Given the description of an element on the screen output the (x, y) to click on. 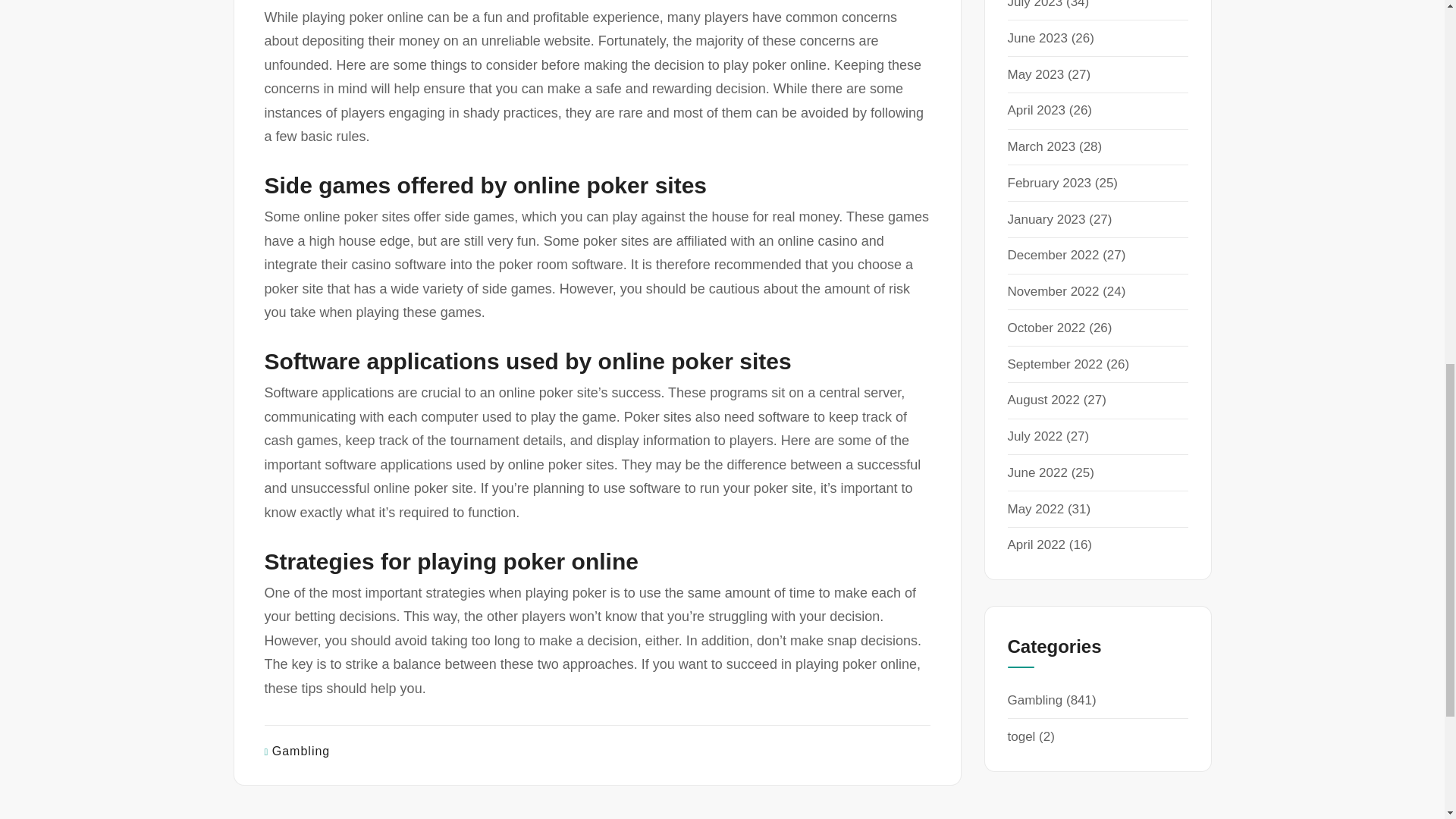
May 2023 (1035, 74)
July 2023 (1034, 4)
November 2022 (1053, 291)
September 2022 (1054, 364)
January 2023 (1045, 219)
October 2022 (1045, 327)
March 2023 (1041, 146)
June 2023 (1037, 38)
Gambling (301, 750)
April 2023 (1036, 110)
February 2023 (1048, 183)
December 2022 (1053, 255)
